Given the description of an element on the screen output the (x, y) to click on. 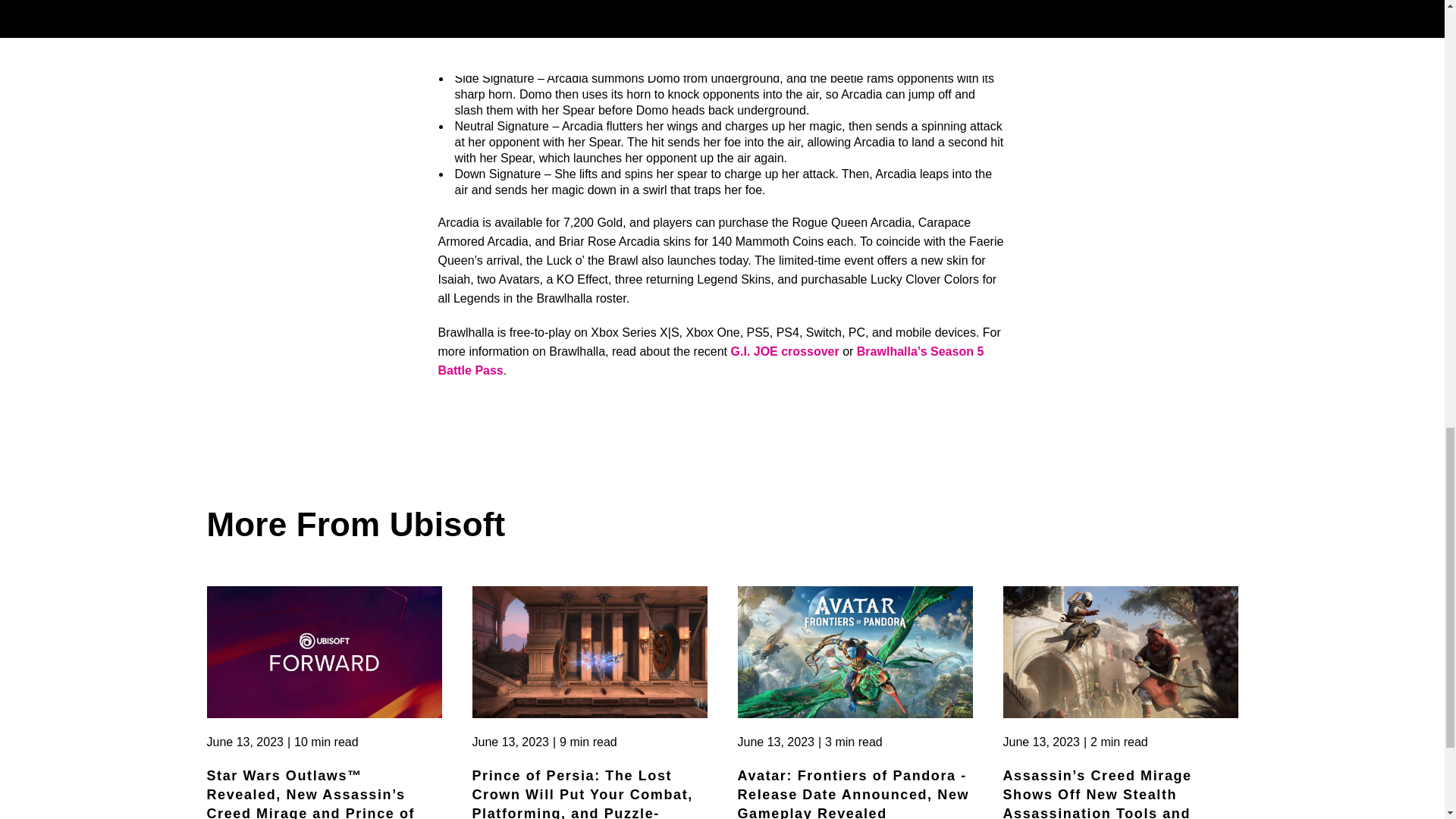
G.I. JOE crossover (785, 350)
